Given the description of an element on the screen output the (x, y) to click on. 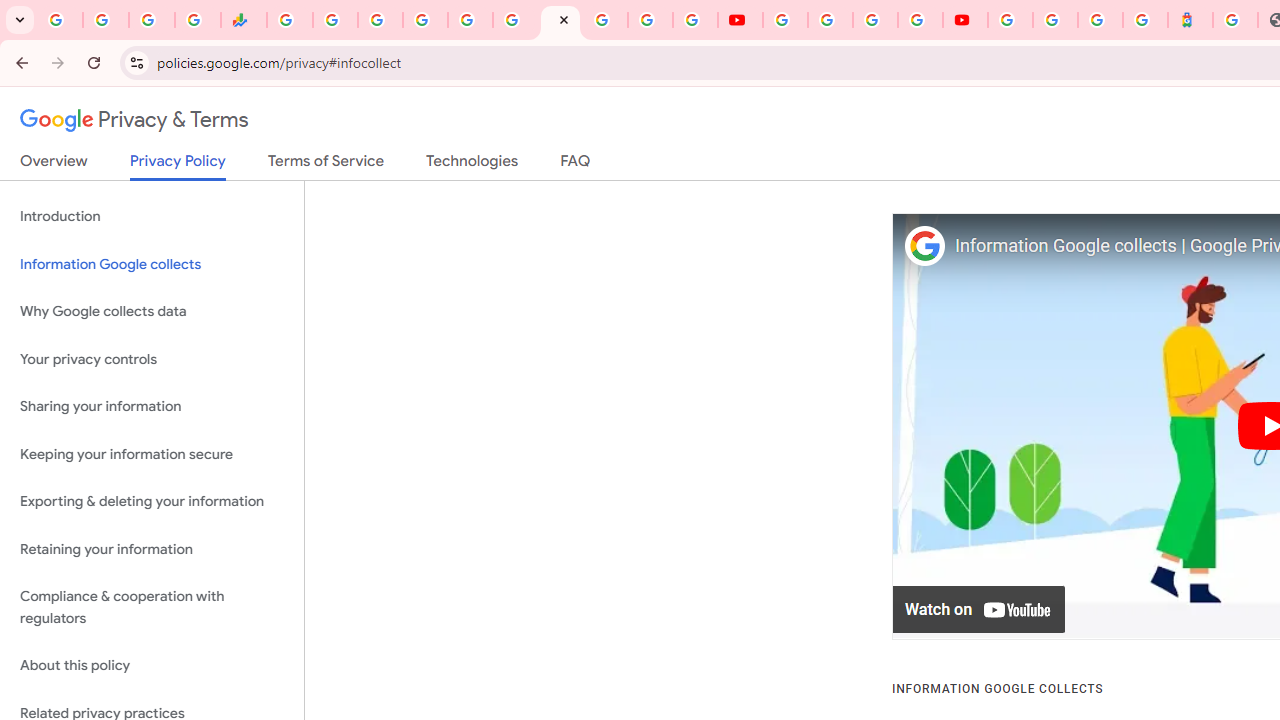
Google Account Help (829, 20)
Privacy Checkup (695, 20)
Technologies (472, 165)
Introduction (152, 216)
Sharing your information (152, 407)
